Given the description of an element on the screen output the (x, y) to click on. 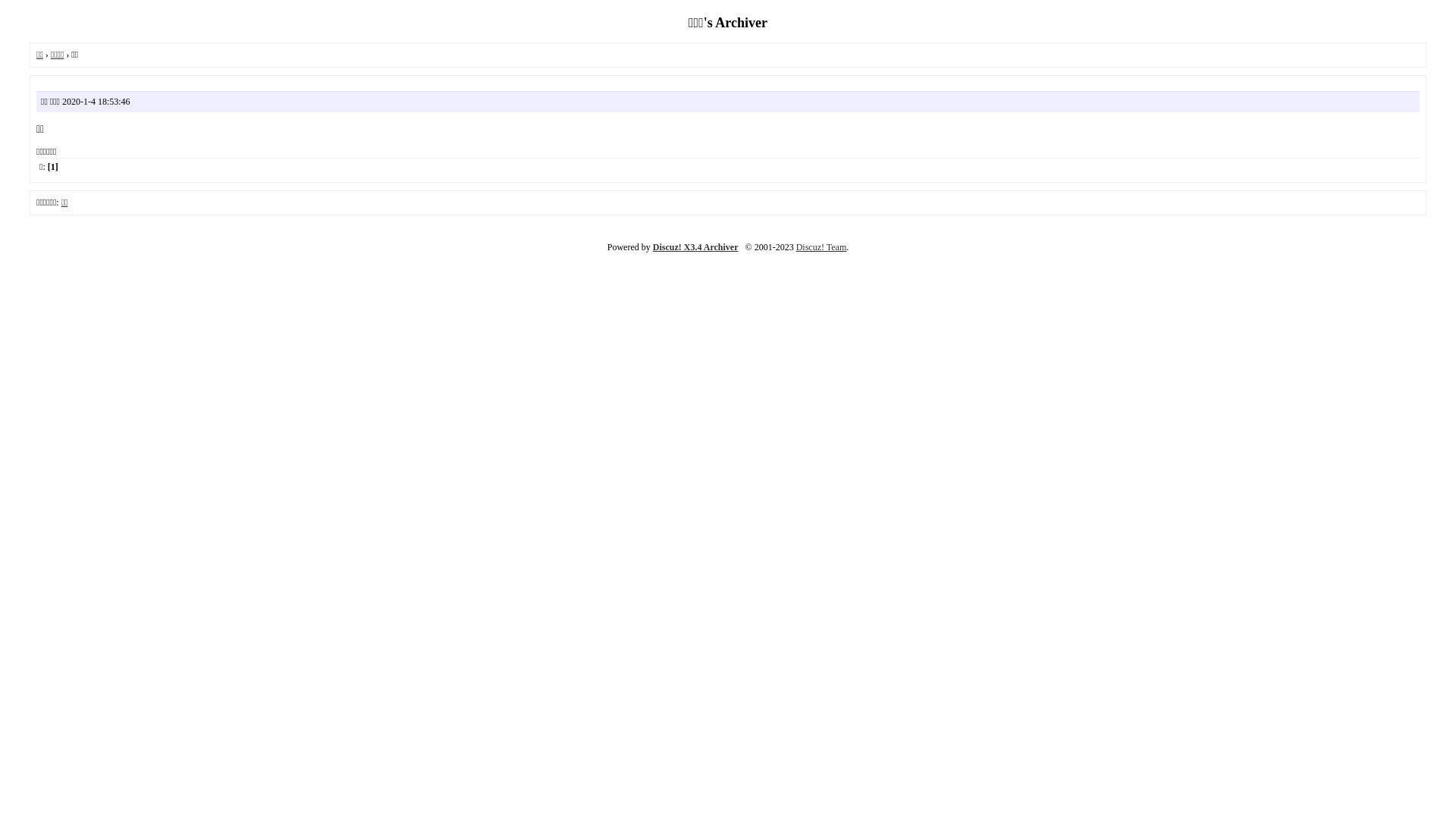
Discuz! X3.4 Archiver Element type: text (695, 246)
Discuz! Team Element type: text (821, 246)
